Given the description of an element on the screen output the (x, y) to click on. 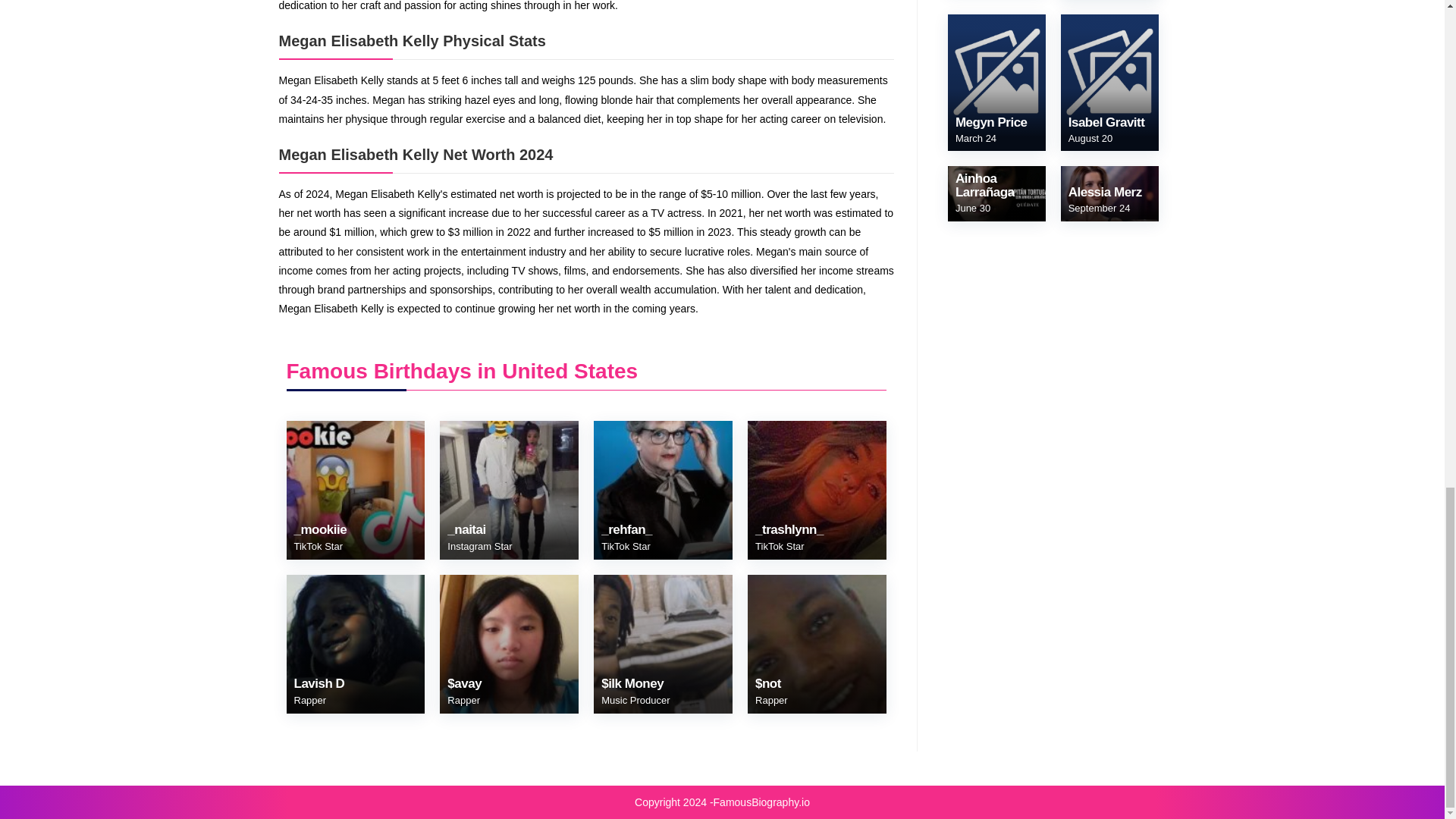
Instagram Star (479, 546)
Megan Elisabeth Kelly (663, 489)
Lavish D (319, 691)
Megan Elisabeth Kelly (508, 489)
Lavish D (319, 691)
Megan Elisabeth Kelly (817, 489)
Megan Elisabeth Kelly (817, 643)
Megan Elisabeth Kelly (508, 643)
Rapper (310, 699)
TikTok Star (625, 546)
TikTok Star (780, 546)
TikTok Star (318, 546)
Megan Elisabeth Kelly (663, 643)
Famous Birthdays in United States (462, 371)
Megan Elisabeth Kelly (355, 489)
